Given the description of an element on the screen output the (x, y) to click on. 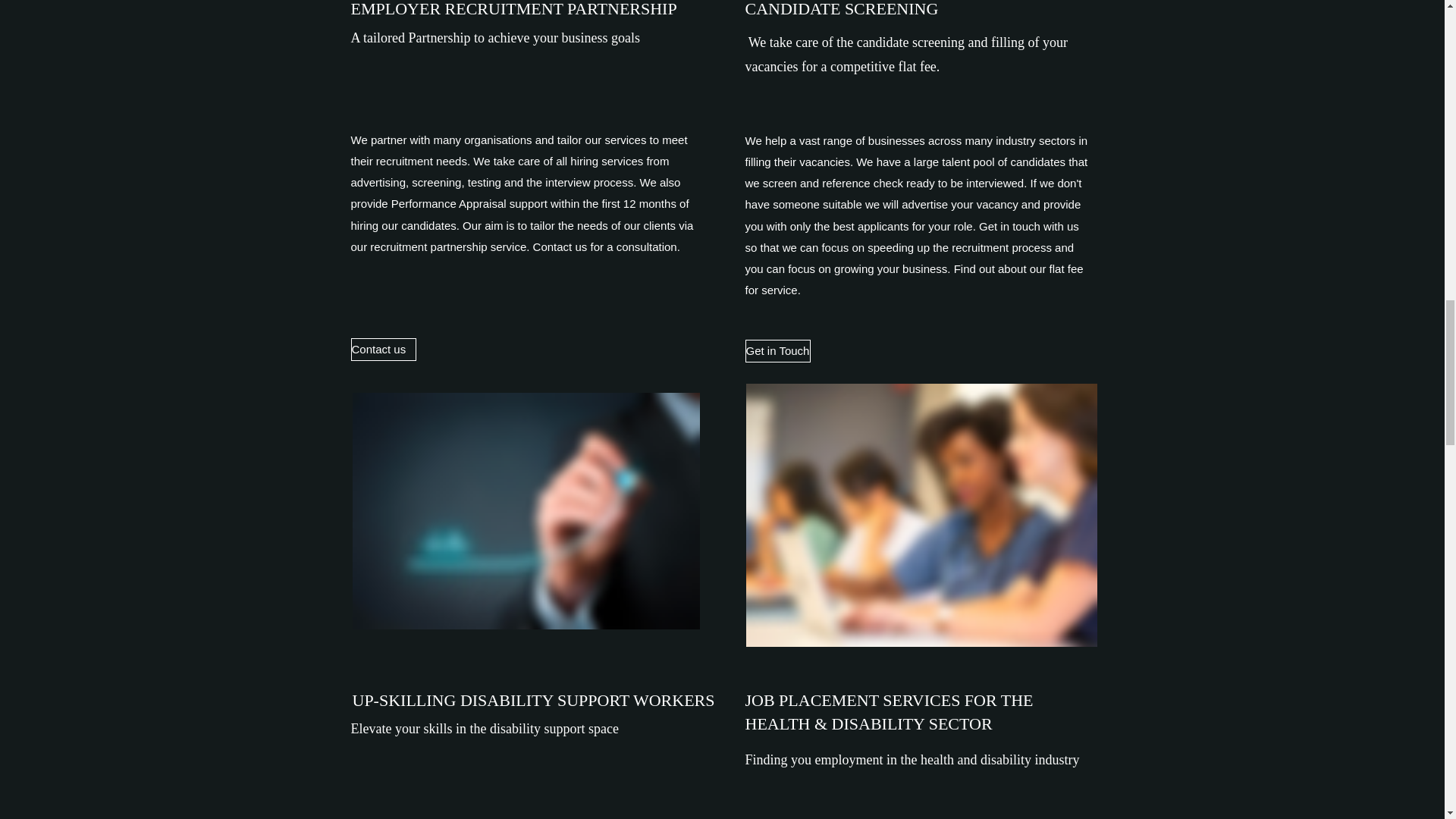
Get in Touch (776, 350)
Contact us (382, 349)
